Given the description of an element on the screen output the (x, y) to click on. 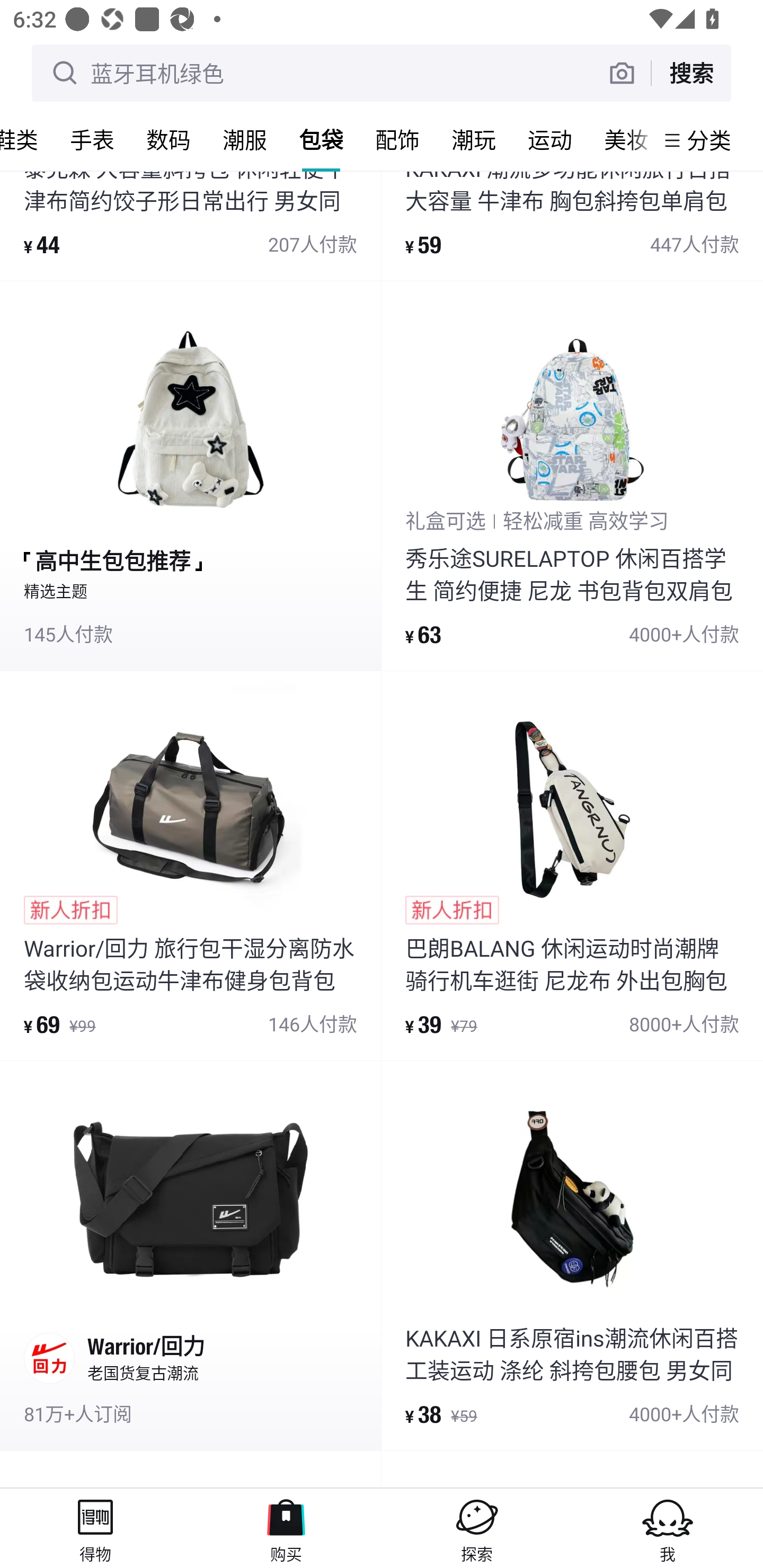
搜索 (690, 72)
鞋类 (27, 139)
手表 (92, 139)
数码 (168, 139)
潮服 (244, 139)
包袋 (321, 139)
配饰 (397, 139)
潮玩 (473, 139)
运动 (549, 139)
美妆 (621, 139)
分类 (708, 139)
高中生包包推荐 精选主题 145人付款 (190, 475)
Warrior/回力 老国货复古潮流 81万+人订阅 (190, 1255)
得物 (95, 1528)
购买 (285, 1528)
探索 (476, 1528)
我 (667, 1528)
